Given the description of an element on the screen output the (x, y) to click on. 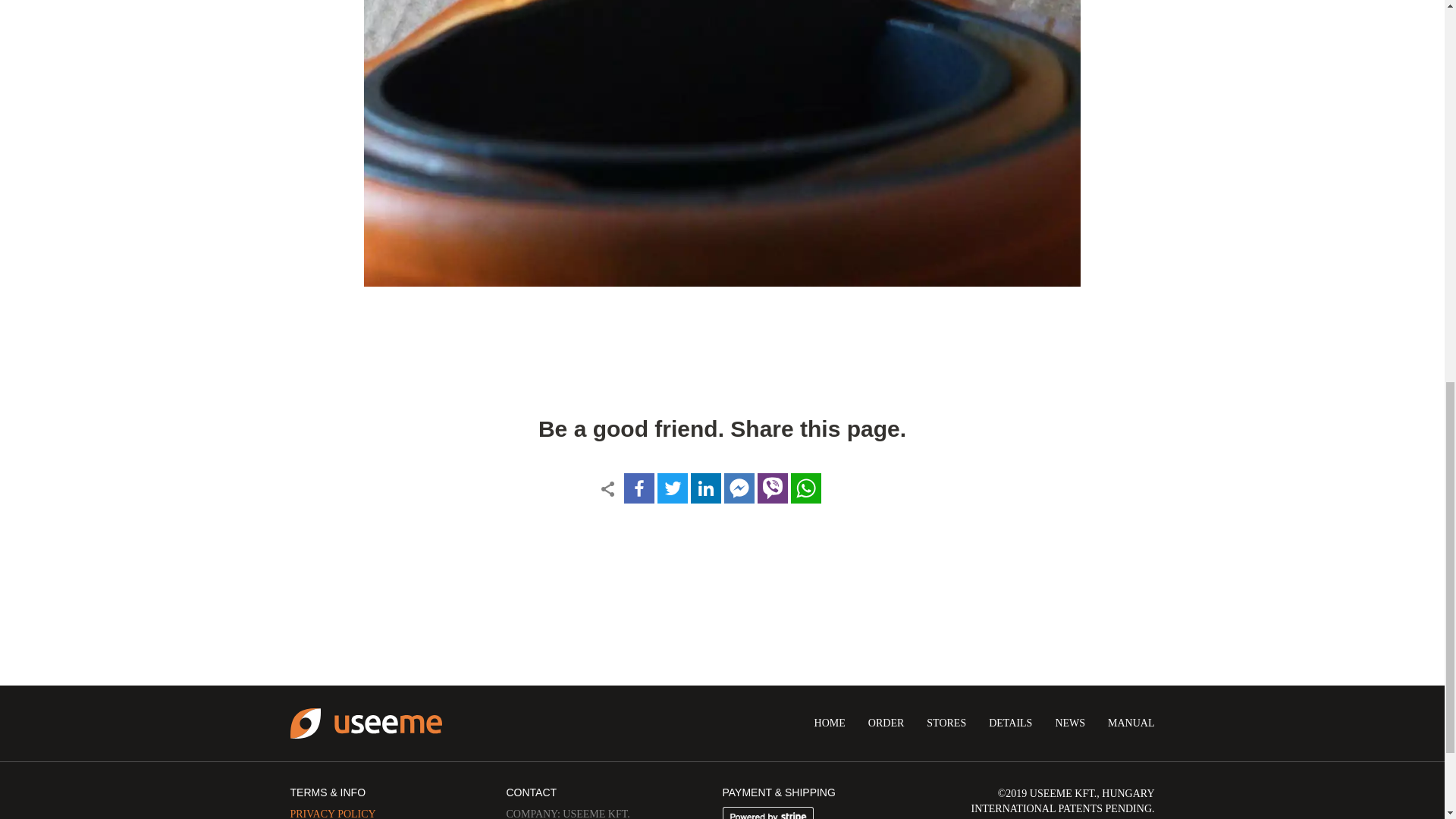
Share via Messenger (738, 488)
Share via Viber (772, 488)
Share via WhatsApp (805, 488)
Share on LinkedIn (705, 488)
Share on Twitter (671, 488)
Home (365, 722)
Share on Facebook (638, 488)
